Given the description of an element on the screen output the (x, y) to click on. 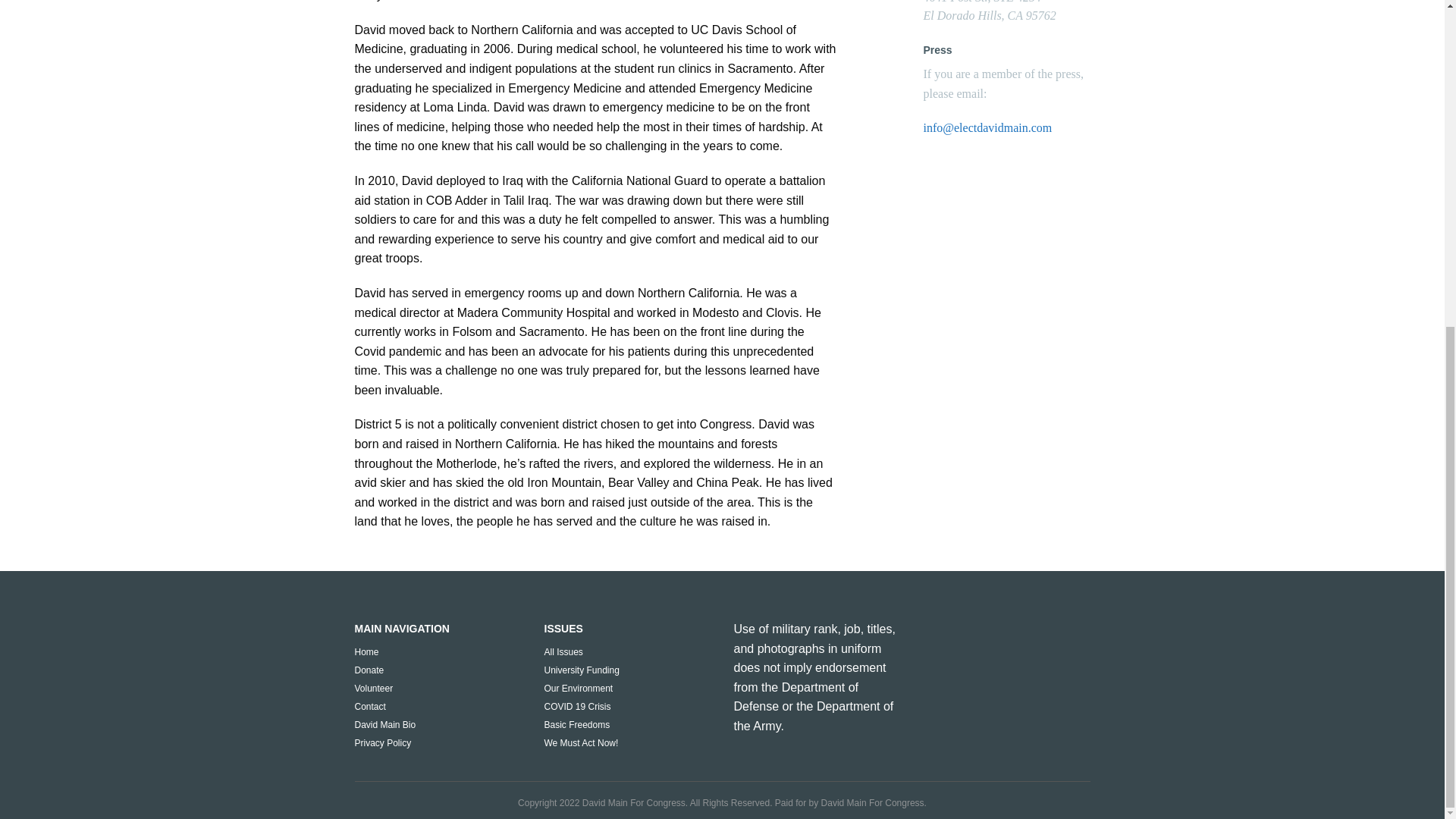
Basic Freedoms (577, 724)
COVID 19 Crisis (577, 706)
Contact (370, 706)
University Funding (582, 670)
Home (366, 652)
David Main Bio (385, 724)
Privacy Policy (383, 742)
Our Environment (578, 688)
All Issues (563, 652)
Volunteer (374, 688)
Donate (369, 670)
We Must Act Now! (581, 742)
